Given the description of an element on the screen output the (x, y) to click on. 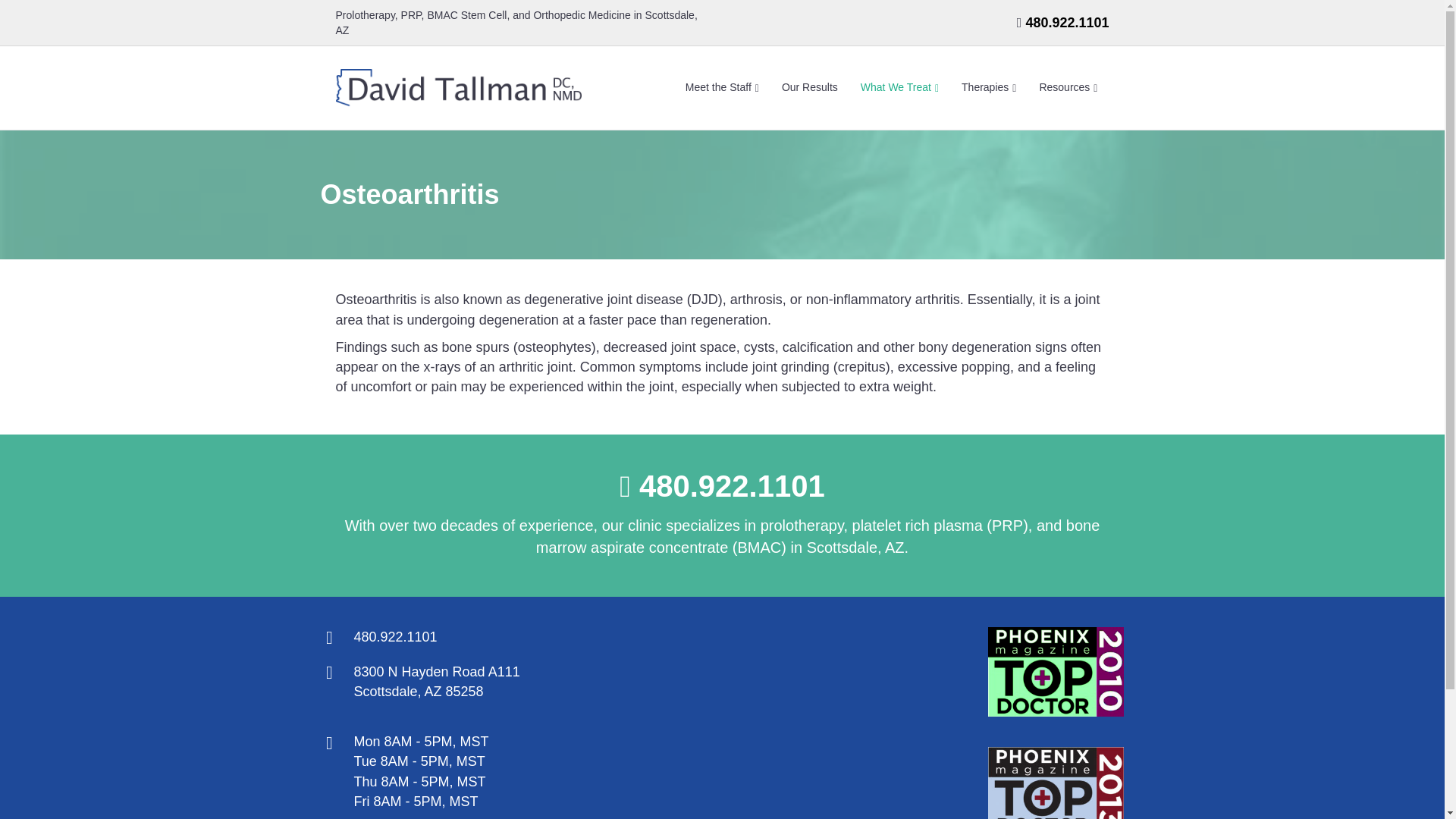
480.922.1101 (1066, 22)
top-docs (1056, 671)
Meet the Staff (722, 87)
PMTopDocLogo06 (1056, 782)
